Given the description of an element on the screen output the (x, y) to click on. 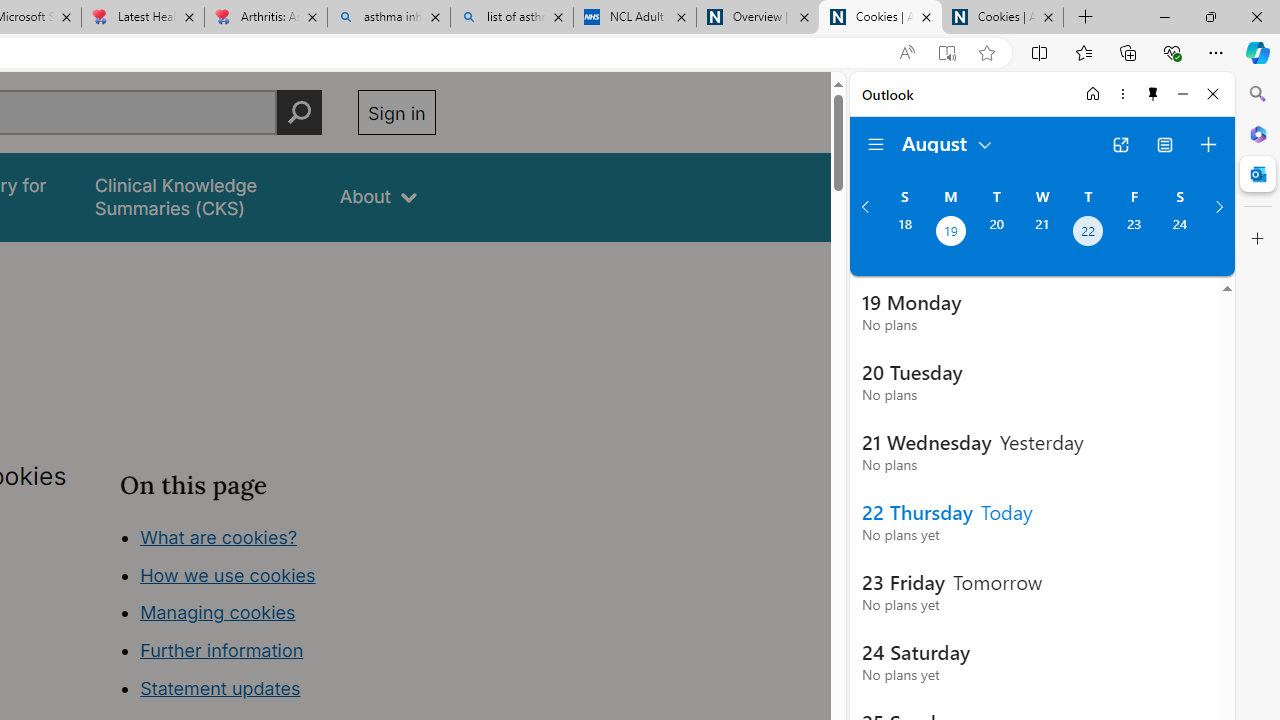
How we use cookies (227, 574)
Wednesday, August 21, 2024.  (1042, 233)
View Switcher. Current view is Agenda view (1165, 144)
Managing cookies (217, 612)
Further information (221, 650)
